Given the description of an element on the screen output the (x, y) to click on. 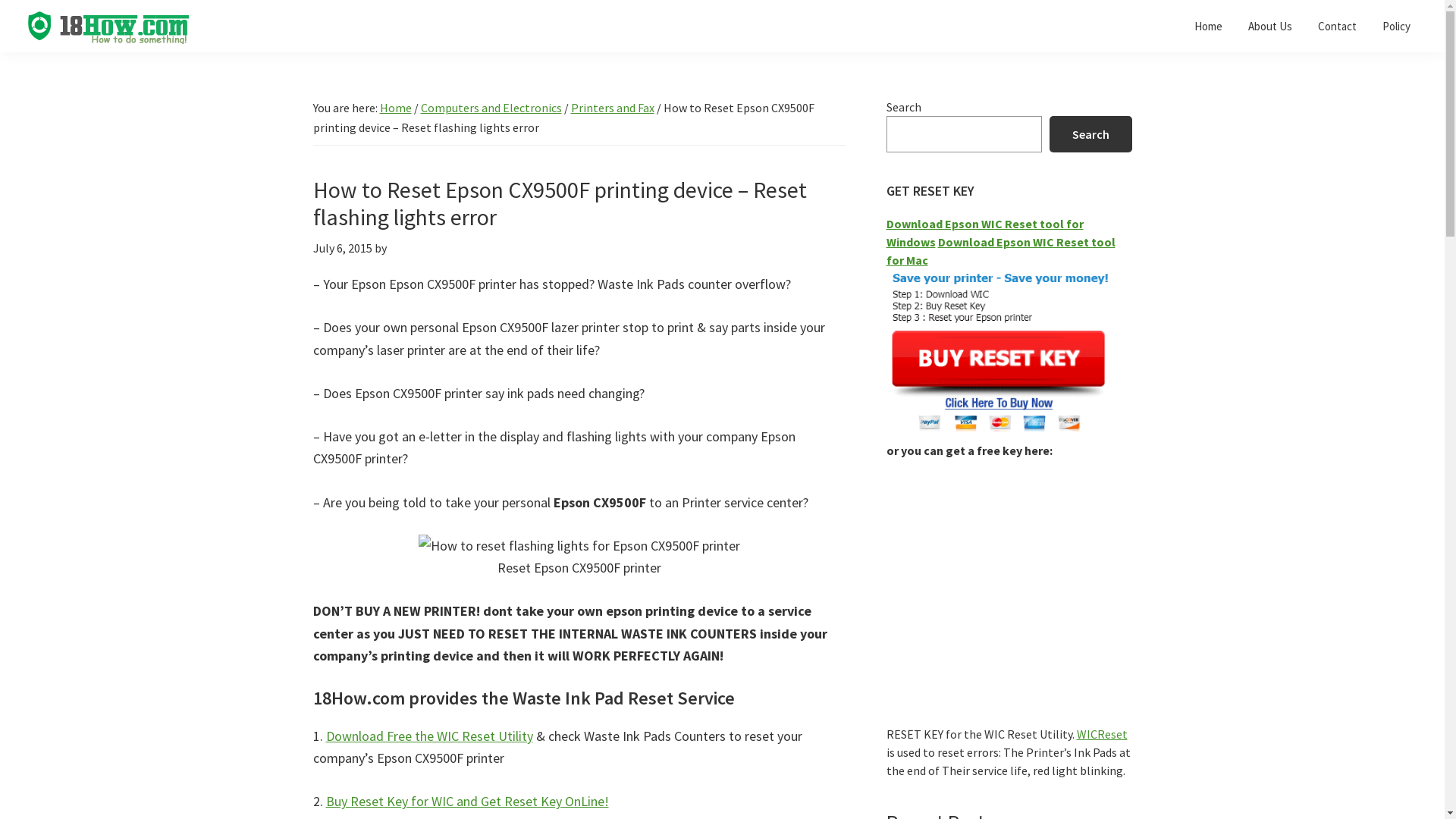
About Us Element type: text (1269, 25)
Download Epson WIC Reset tool for Mac Element type: text (999, 250)
Download Epson WIC Reset tool for Windows Element type: text (983, 232)
Home Element type: text (1208, 25)
Skip to primary navigation Element type: text (0, 0)
Computers and Electronics Element type: text (490, 107)
Buy Reset Key for WIC and Get Reset Key OnLine! Element type: text (467, 800)
Download Free the WIC Reset Utility Element type: text (429, 735)
Printers and Fax Element type: text (611, 107)
Contact Element type: text (1337, 25)
Search Element type: text (1090, 134)
Home Element type: text (395, 107)
WICReset Element type: text (1101, 733)
Policy Element type: text (1396, 25)
